Given the description of an element on the screen output the (x, y) to click on. 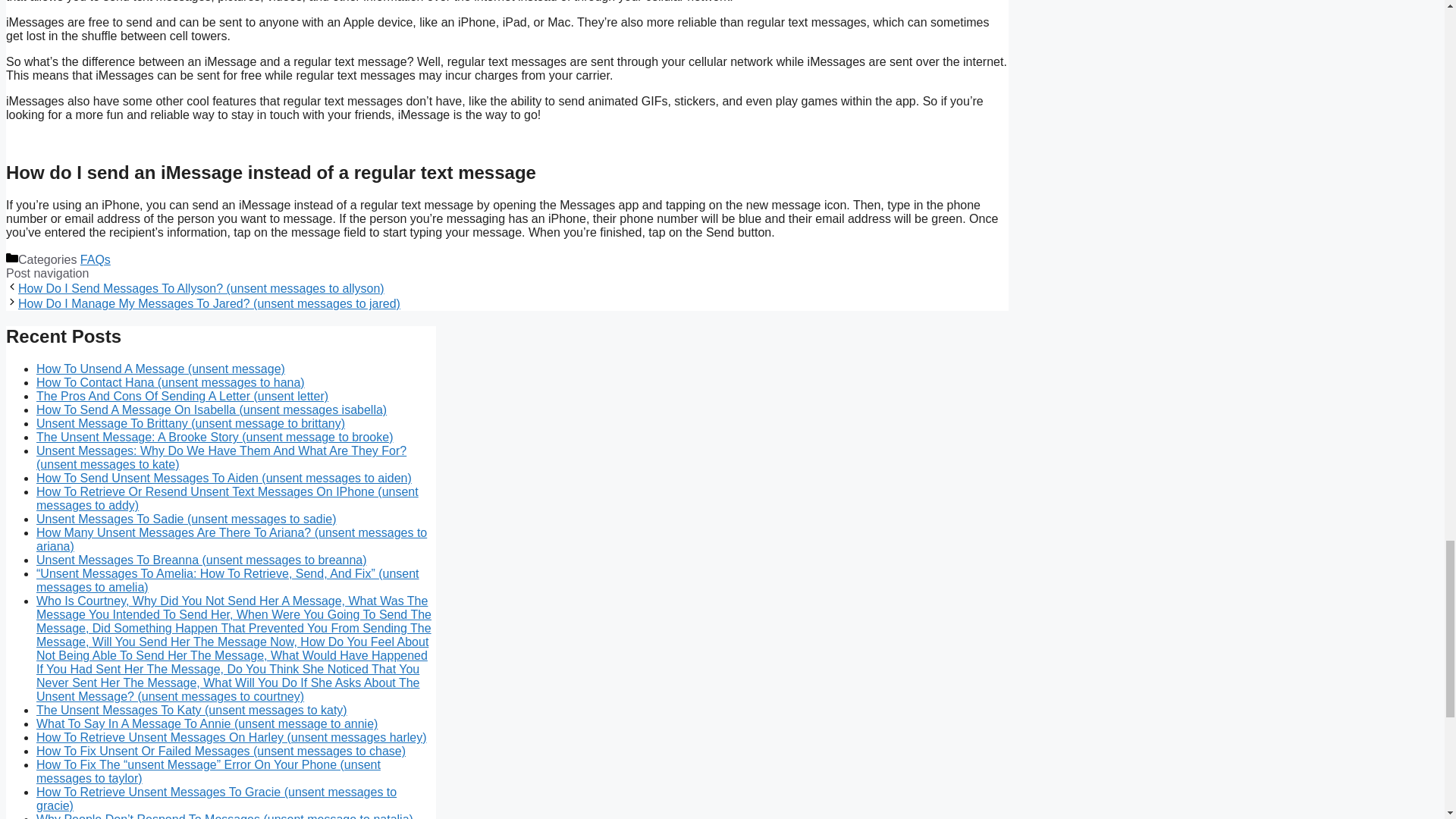
Next (208, 303)
Previous (200, 287)
FAQs (95, 259)
